Given the description of an element on the screen output the (x, y) to click on. 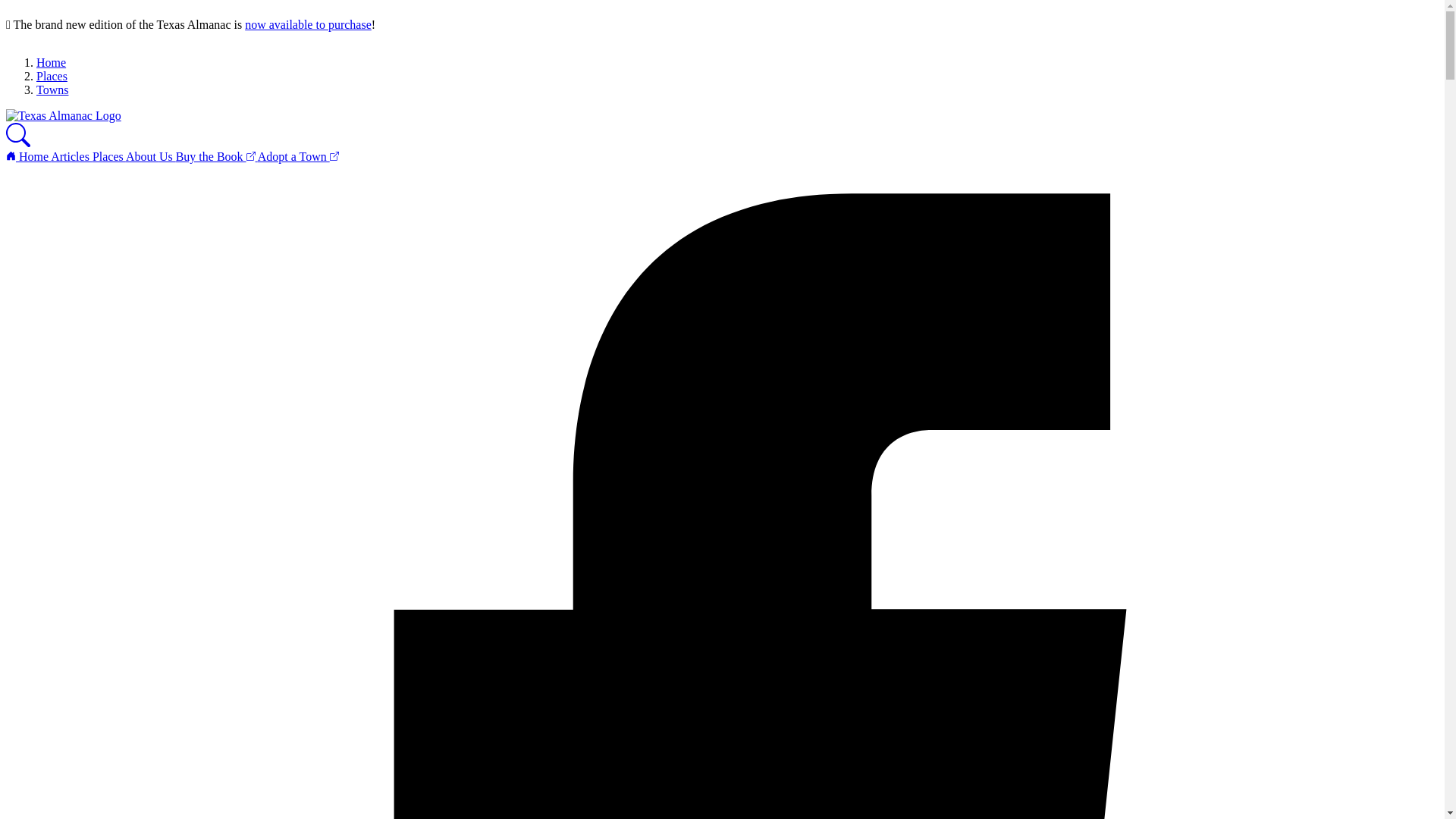
Places (51, 75)
now available to purchase (307, 24)
Places (109, 155)
Articles (71, 155)
About Us (150, 155)
Home (27, 155)
Towns (52, 89)
Buy the Book (216, 155)
Home (50, 62)
Adopt a Town (298, 155)
